Given the description of an element on the screen output the (x, y) to click on. 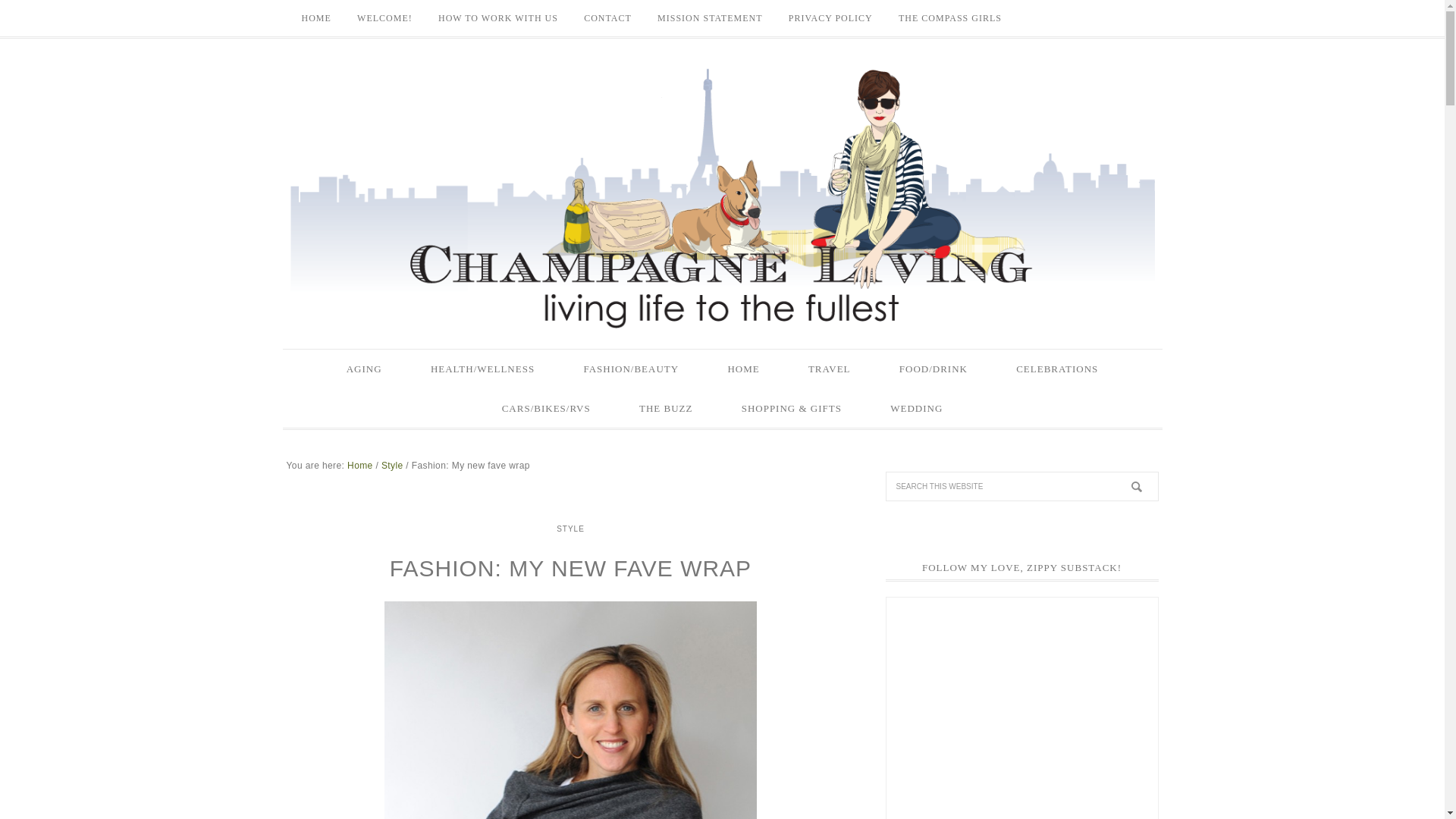
THE COMPASS GIRLS (949, 18)
WELCOME! (384, 18)
PRIVACY POLICY (830, 18)
THE BUZZ (664, 407)
MISSION STATEMENT (709, 18)
Style (392, 465)
Home (359, 465)
TRAVEL (829, 369)
